Given the description of an element on the screen output the (x, y) to click on. 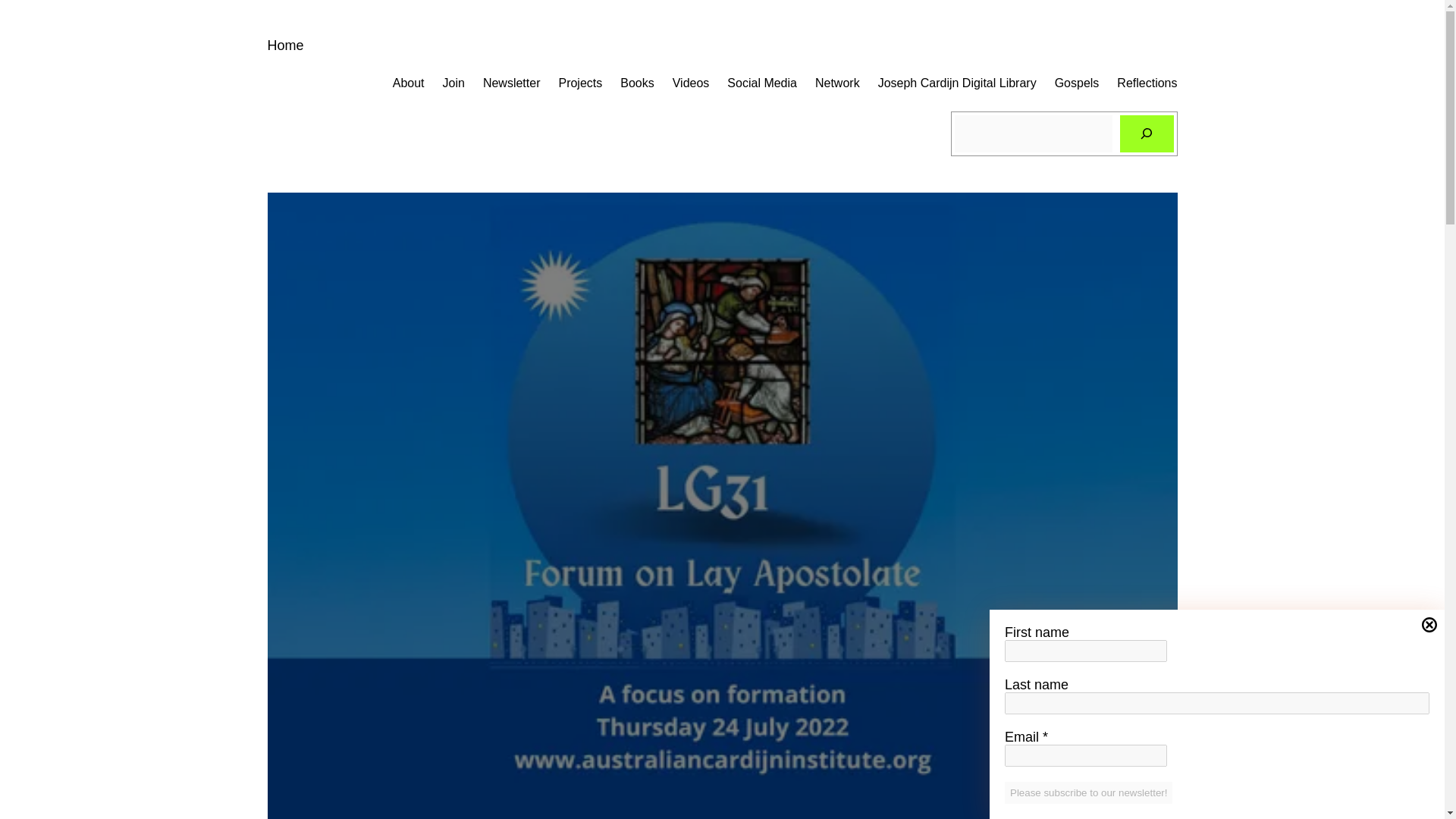
Last name (1216, 703)
Projects (579, 83)
Please subscribe to our newsletter! (1088, 792)
Home (284, 45)
Joseph Cardijn Digital Library (956, 83)
First name (1085, 650)
Gospels (1076, 83)
Please subscribe to our newsletter! (1088, 792)
Email (1085, 755)
Network (837, 83)
Reflections (1146, 83)
Videos (691, 83)
About (409, 83)
Books (636, 83)
Join (453, 83)
